Given the description of an element on the screen output the (x, y) to click on. 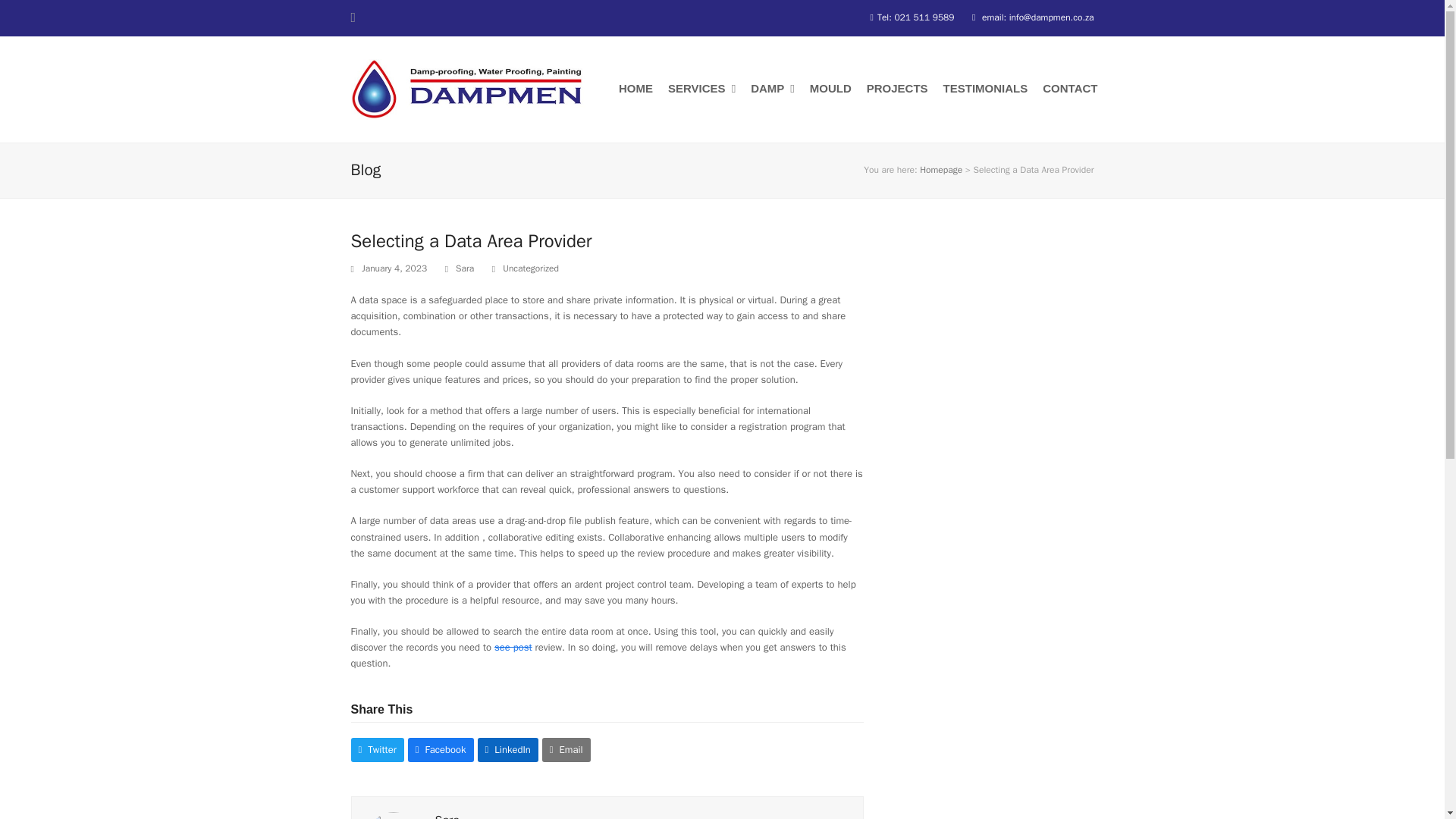
MOULD (830, 89)
CONTACT (1070, 89)
DAMP (772, 89)
Sara (464, 268)
Uncategorized (530, 268)
LinkedIn (507, 749)
PROJECTS (897, 89)
Sara (447, 816)
TESTIMONIALS (985, 89)
Homepage (941, 169)
